Given the description of an element on the screen output the (x, y) to click on. 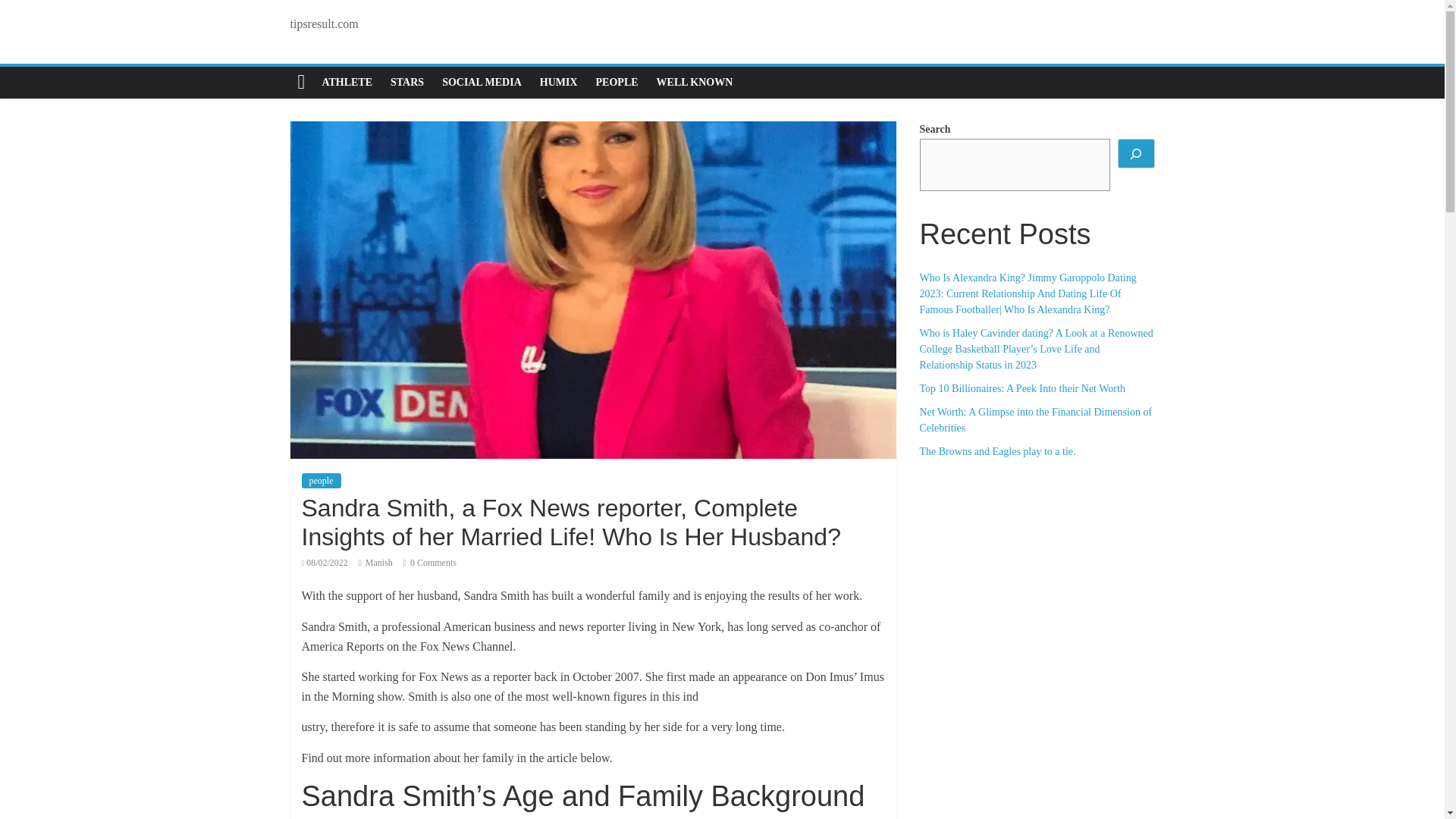
Top 10 Billionaires: A Peek Into their Net Worth (1021, 388)
4:54 pm (324, 562)
WELL KNOWN (694, 82)
STARS (406, 82)
0 Comments (430, 562)
PEOPLE (616, 82)
people (320, 480)
HUMIX (558, 82)
Manish (379, 562)
The Browns and Eagles play to a tie. (996, 451)
